Given the description of an element on the screen output the (x, y) to click on. 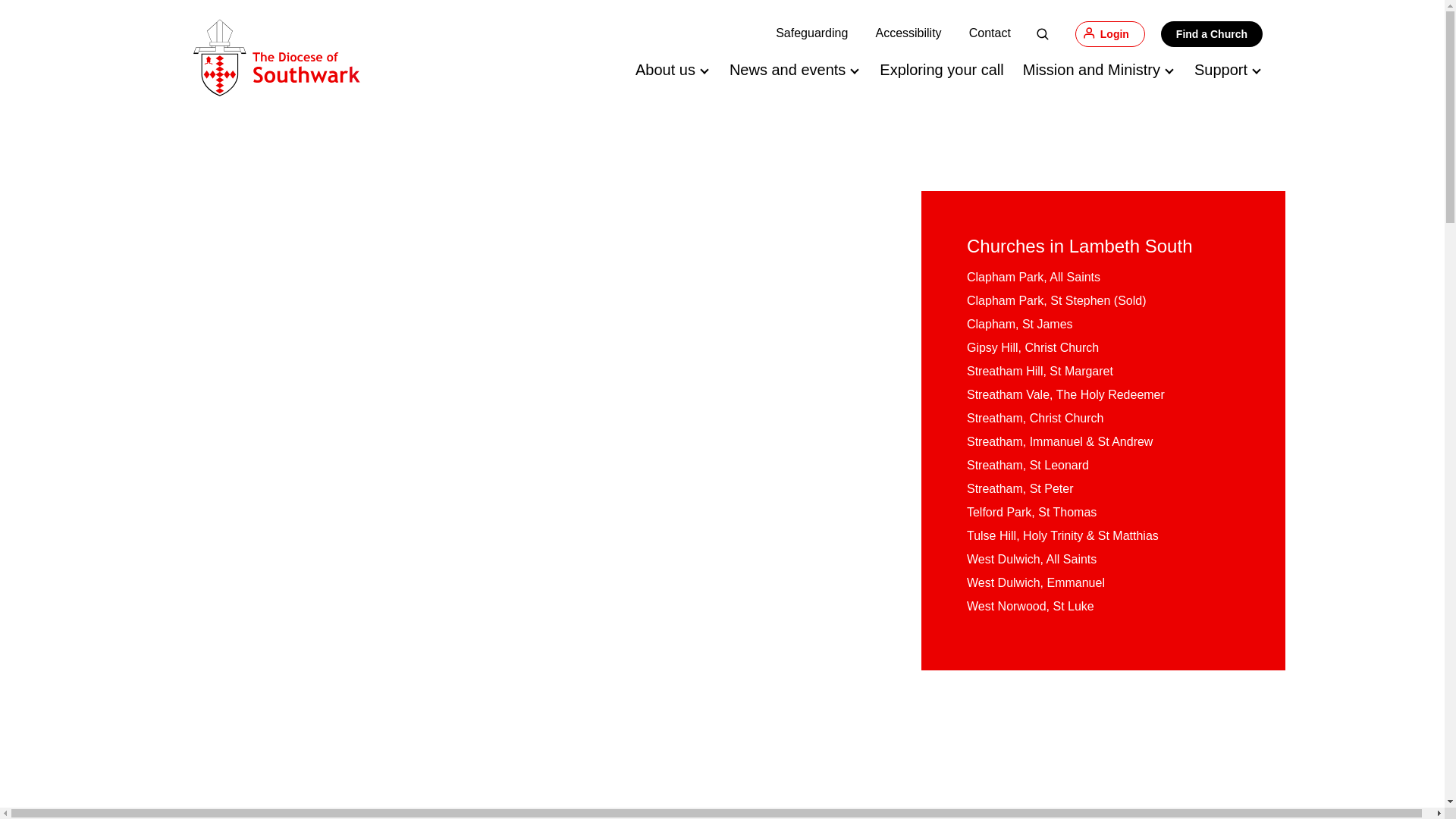
News and events (787, 69)
Login (1109, 33)
Mission and Ministry (1091, 69)
About us (664, 69)
The Diocese of Southwark (276, 57)
Support (1220, 69)
Safeguarding (811, 32)
Find a Church (1211, 33)
Exploring your call (941, 69)
Contact (989, 32)
Accessibility (907, 32)
